Given the description of an element on the screen output the (x, y) to click on. 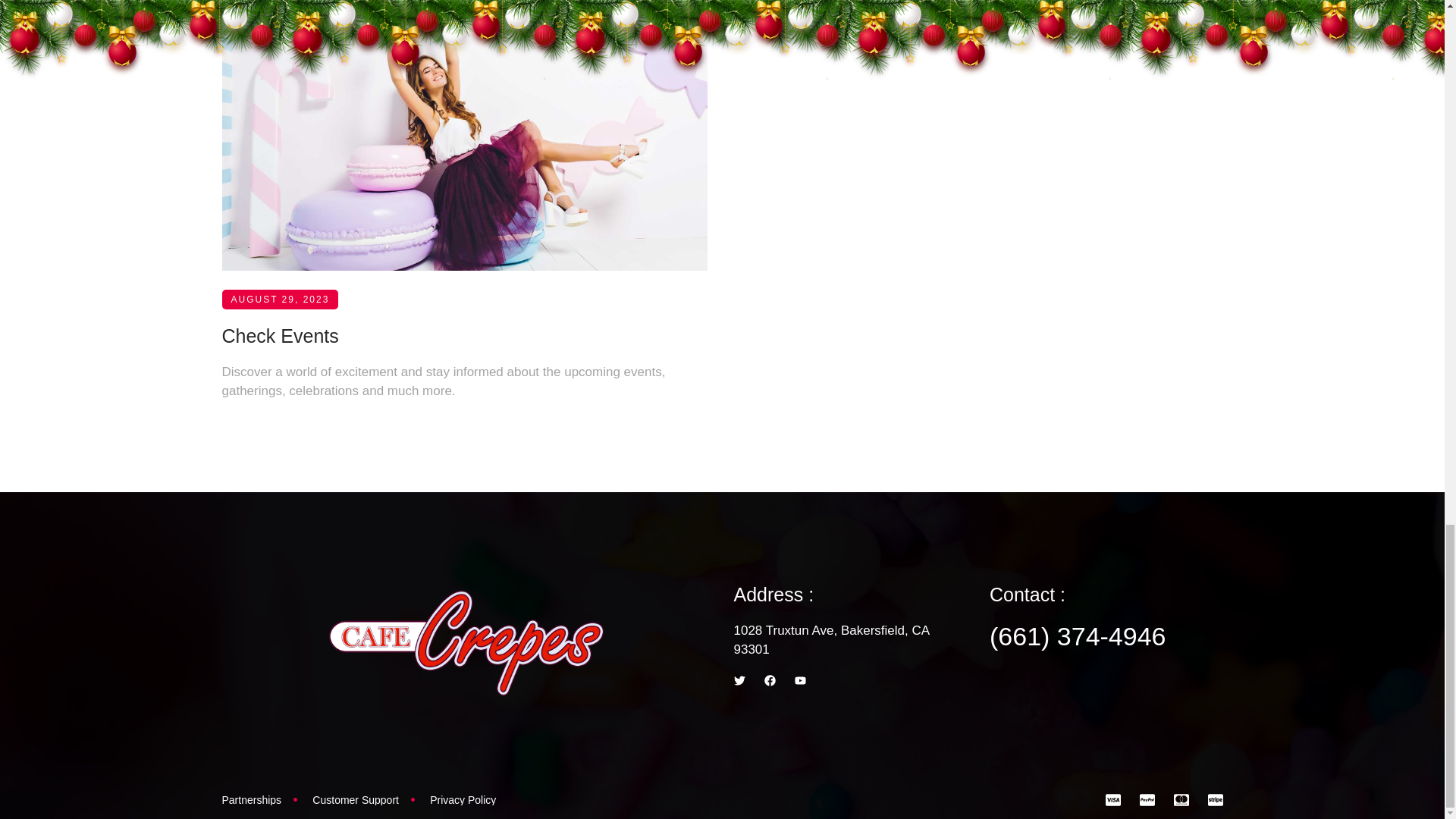
AUGUST 29, 2023 (279, 26)
Check Events (279, 371)
AUGUST 29, 2023 (279, 346)
New Website (277, 34)
